Given the description of an element on the screen output the (x, y) to click on. 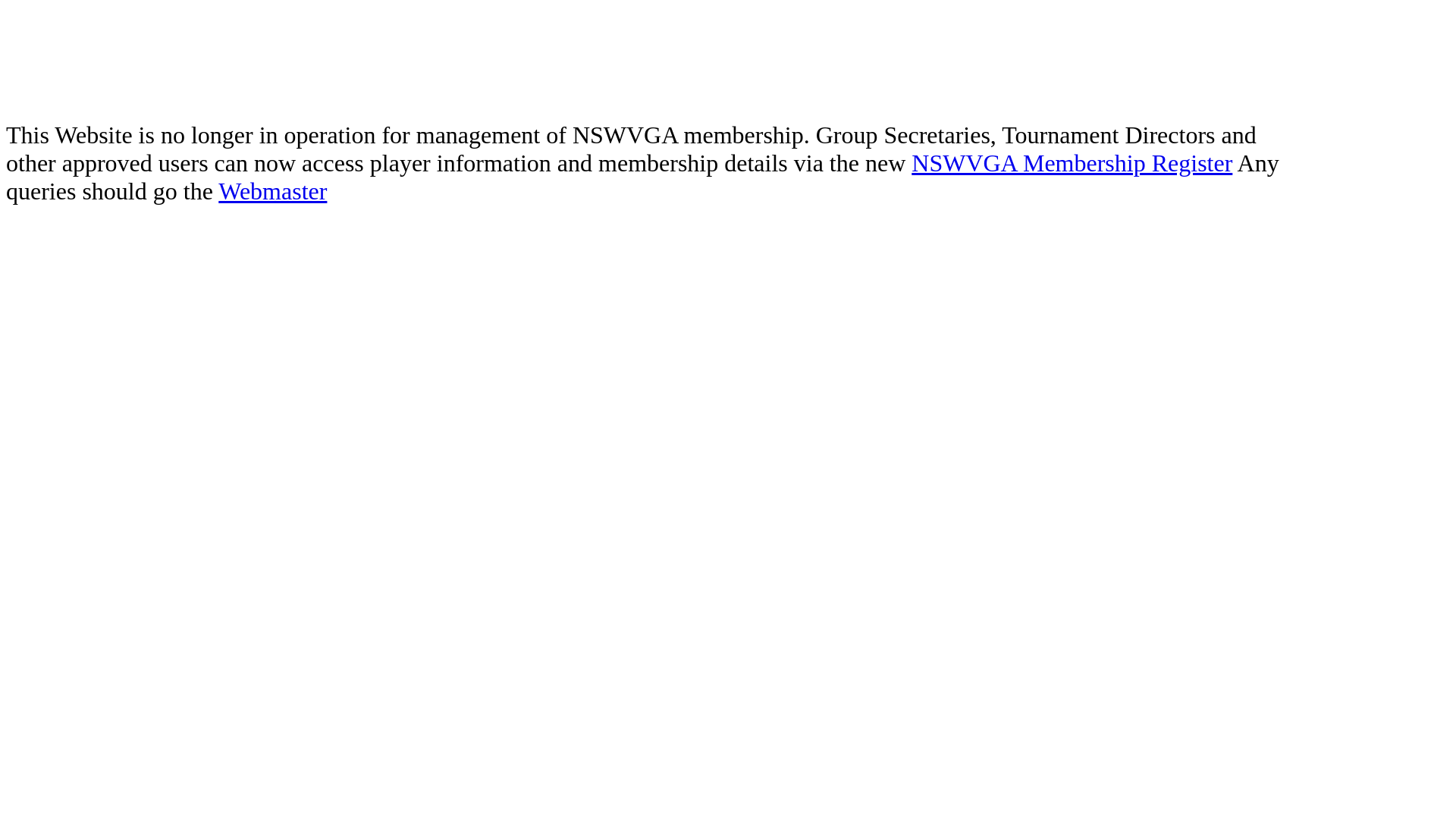
NSWVGA Membership Register Element type: text (1071, 162)
Webmaster Element type: text (272, 190)
